Given the description of an element on the screen output the (x, y) to click on. 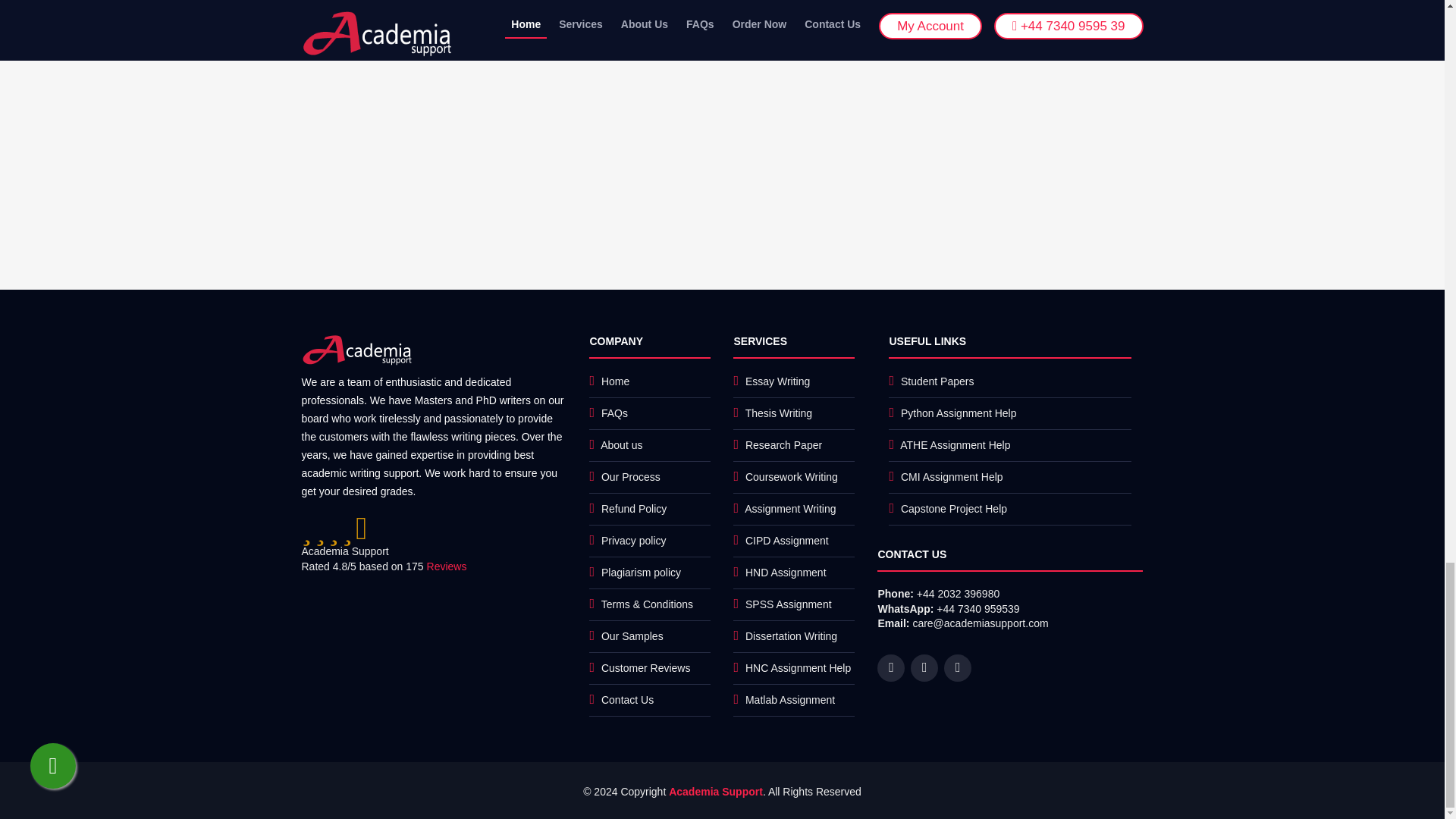
CIPD Assignment (786, 540)
Our Process (631, 476)
HND Assignment (786, 572)
Reviews (446, 566)
Privacy policy (633, 540)
Coursework Writing (791, 476)
SPSS Assignment (788, 604)
Plagiarism policy (641, 572)
Contact Us (627, 699)
Dissertation Writing (791, 635)
Thesis Writing (778, 413)
Assignment Writing (789, 508)
FAQs (614, 413)
Home (614, 381)
Our Samples (632, 635)
